Given the description of an element on the screen output the (x, y) to click on. 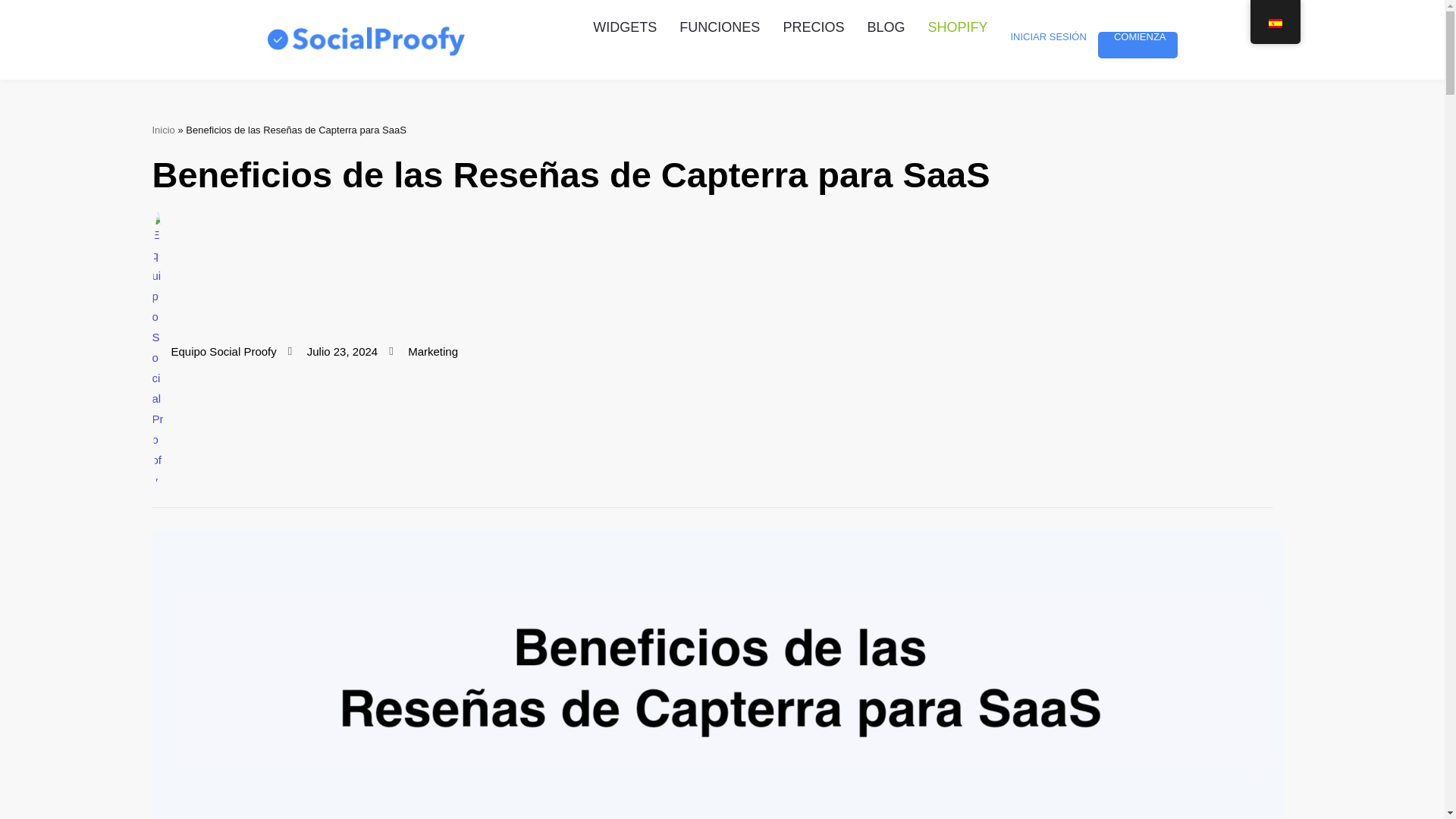
Julio 23, 2024 (332, 351)
Inicio (162, 129)
PRECIOS (813, 27)
Marketing (432, 350)
SHOPIFY (956, 27)
COMIENZA (1137, 29)
Social Proofy (365, 39)
BLOG (885, 27)
WIDGETS (624, 27)
FUNCIONES (719, 27)
